Given the description of an element on the screen output the (x, y) to click on. 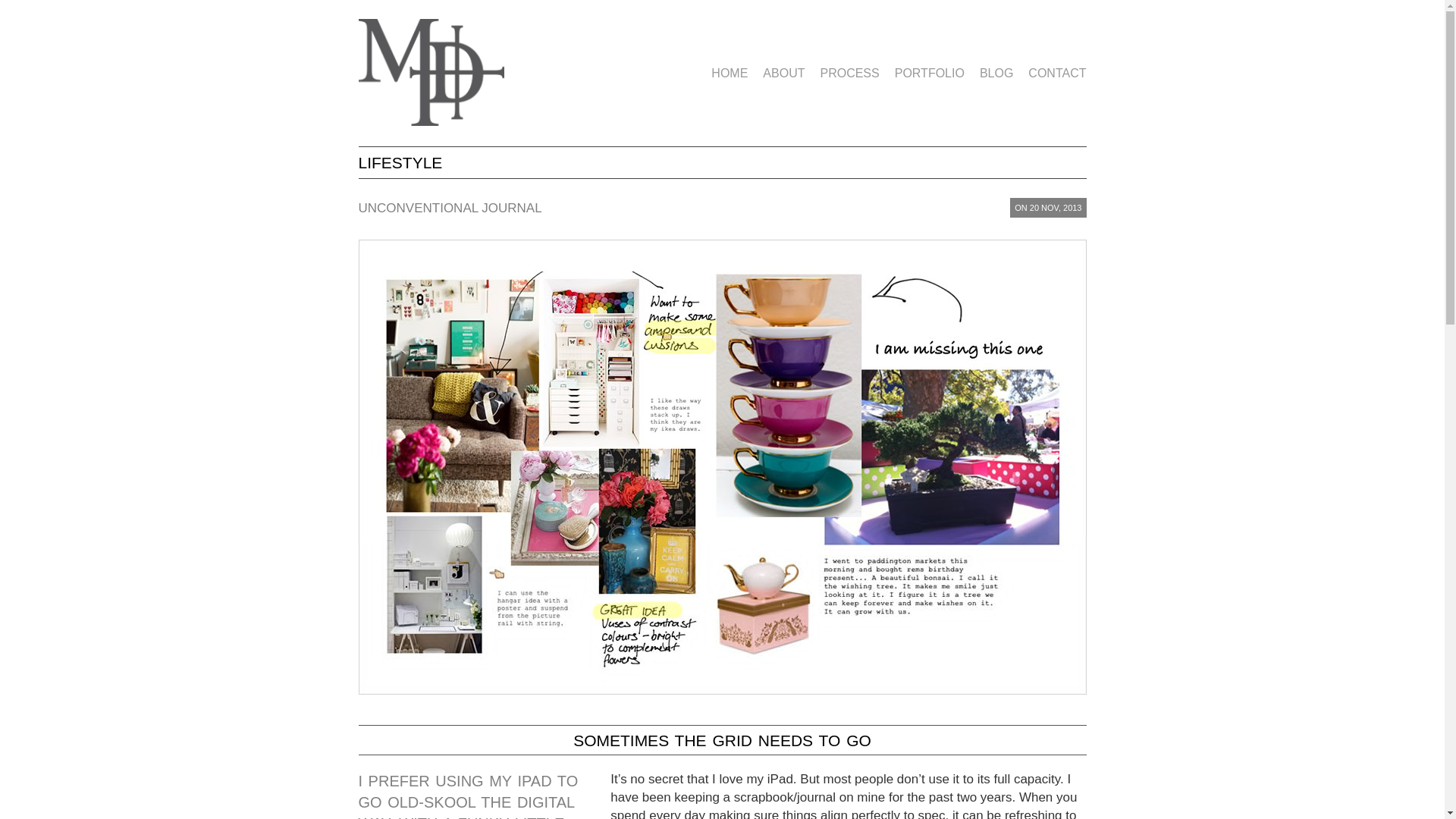
BLOG (996, 73)
PROCESS (849, 73)
CONTACT (1056, 73)
UNCONVENTIONAL JOURNAL (449, 207)
Membery Design (430, 117)
PORTFOLIO (929, 73)
Unconventional Journal (449, 207)
HOME (729, 73)
ABOUT (783, 73)
